Given the description of an element on the screen output the (x, y) to click on. 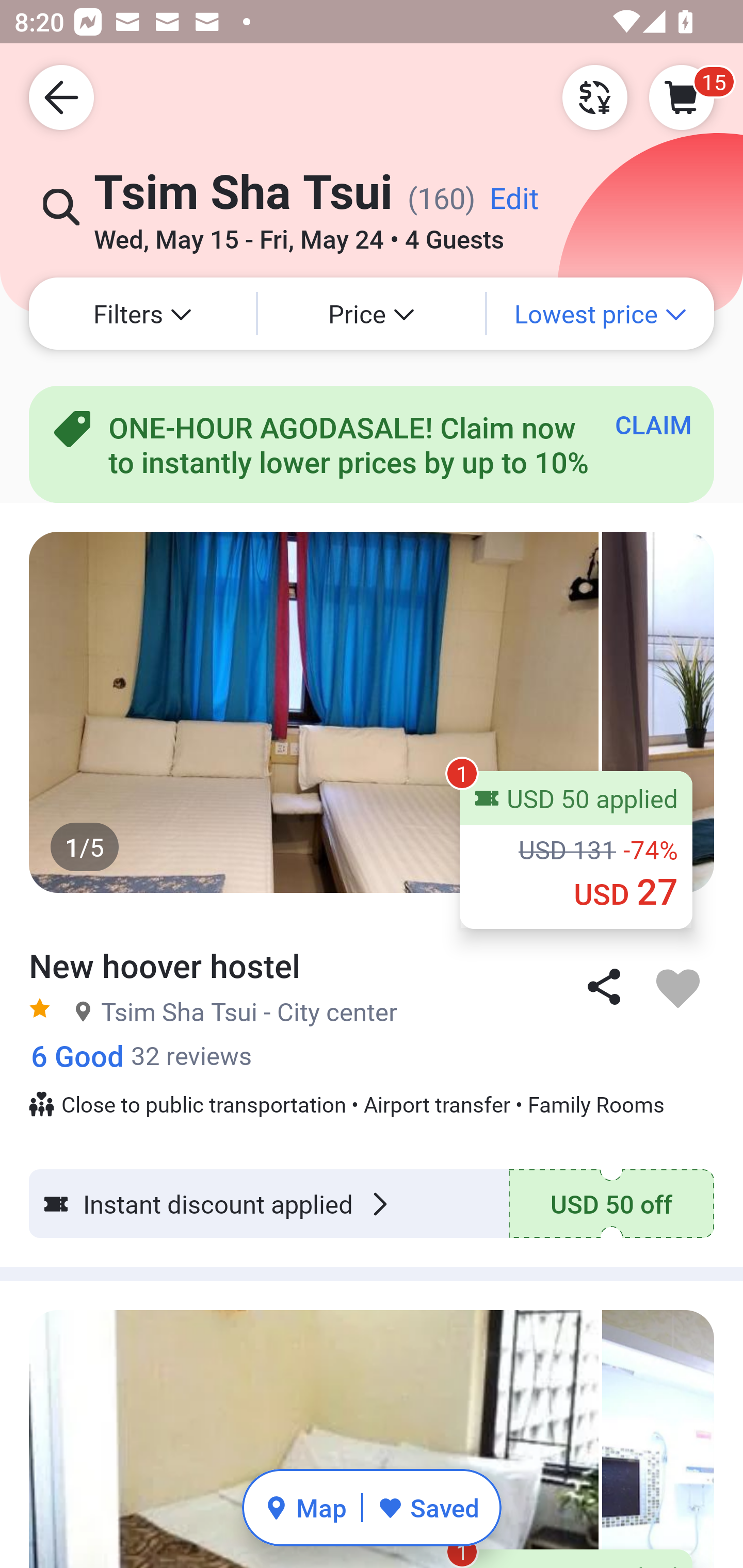
Filters (141, 313)
Price (371, 313)
Lowest price (600, 313)
CLAIM (653, 424)
1/5 (371, 711)
USD 50 applied ‪USD 131 -74% ‪USD 27 1 (575, 849)
Instant discount applied USD 50 off (371, 1203)
Map (305, 1507)
Saved (428, 1507)
